Given the description of an element on the screen output the (x, y) to click on. 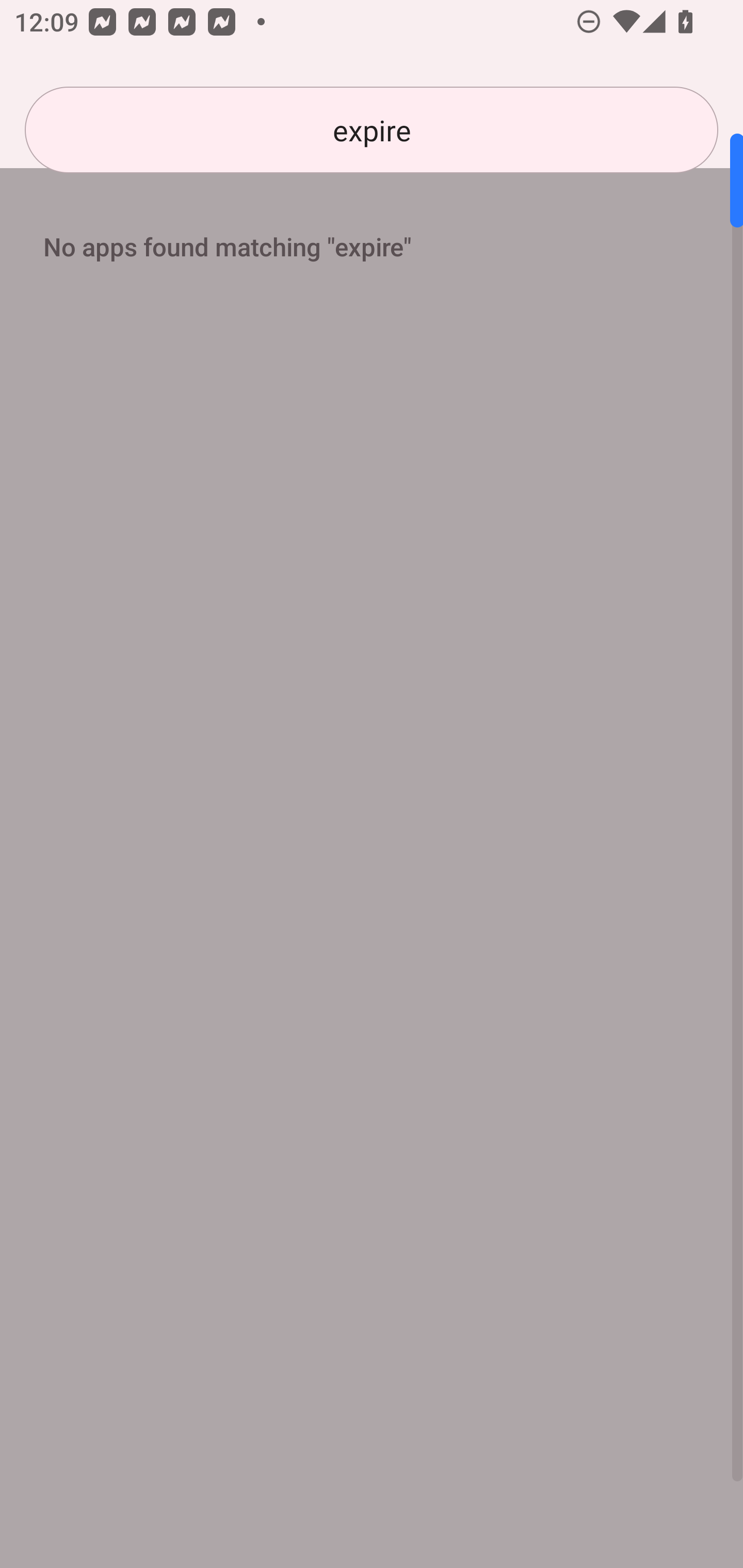
expire (371, 130)
